Given the description of an element on the screen output the (x, y) to click on. 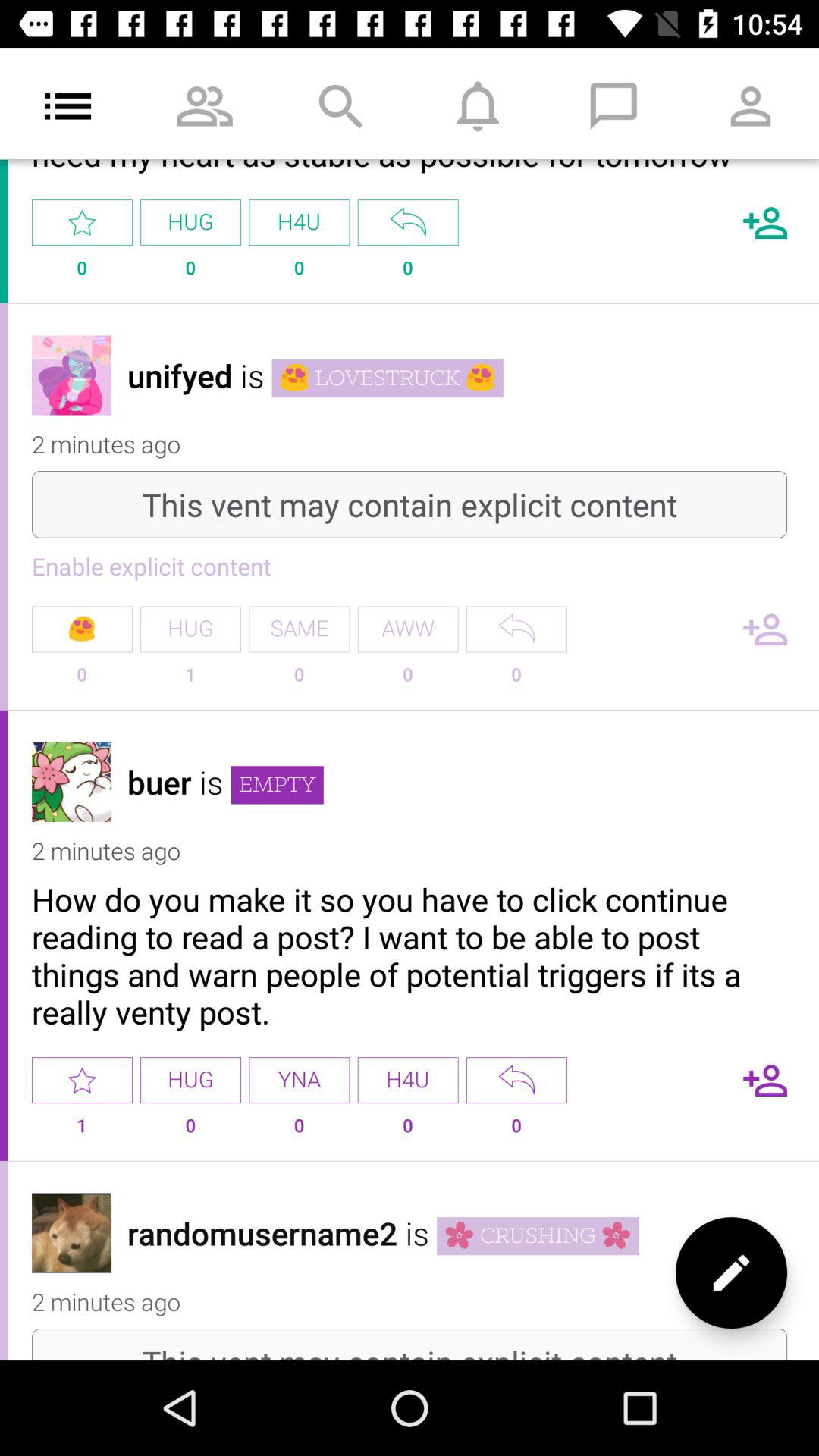
enter a reply (516, 1080)
